Given the description of an element on the screen output the (x, y) to click on. 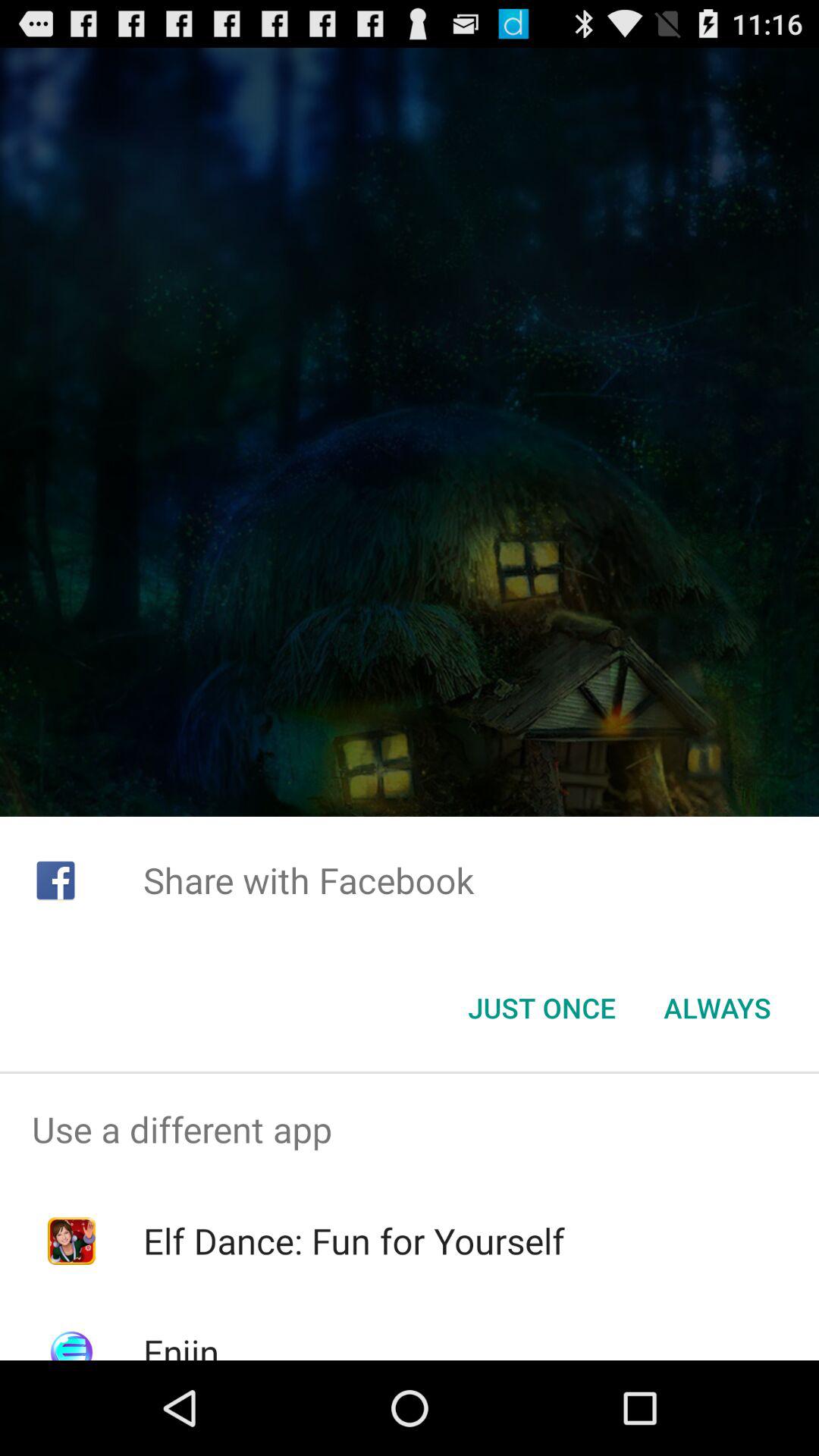
flip to the enjin icon (180, 1344)
